Given the description of an element on the screen output the (x, y) to click on. 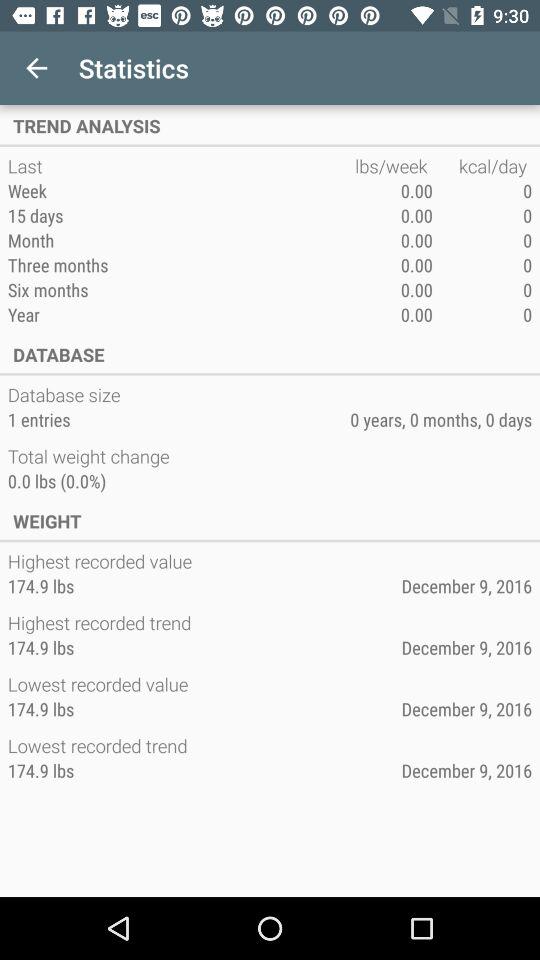
jump until the three months (181, 264)
